Given the description of an element on the screen output the (x, y) to click on. 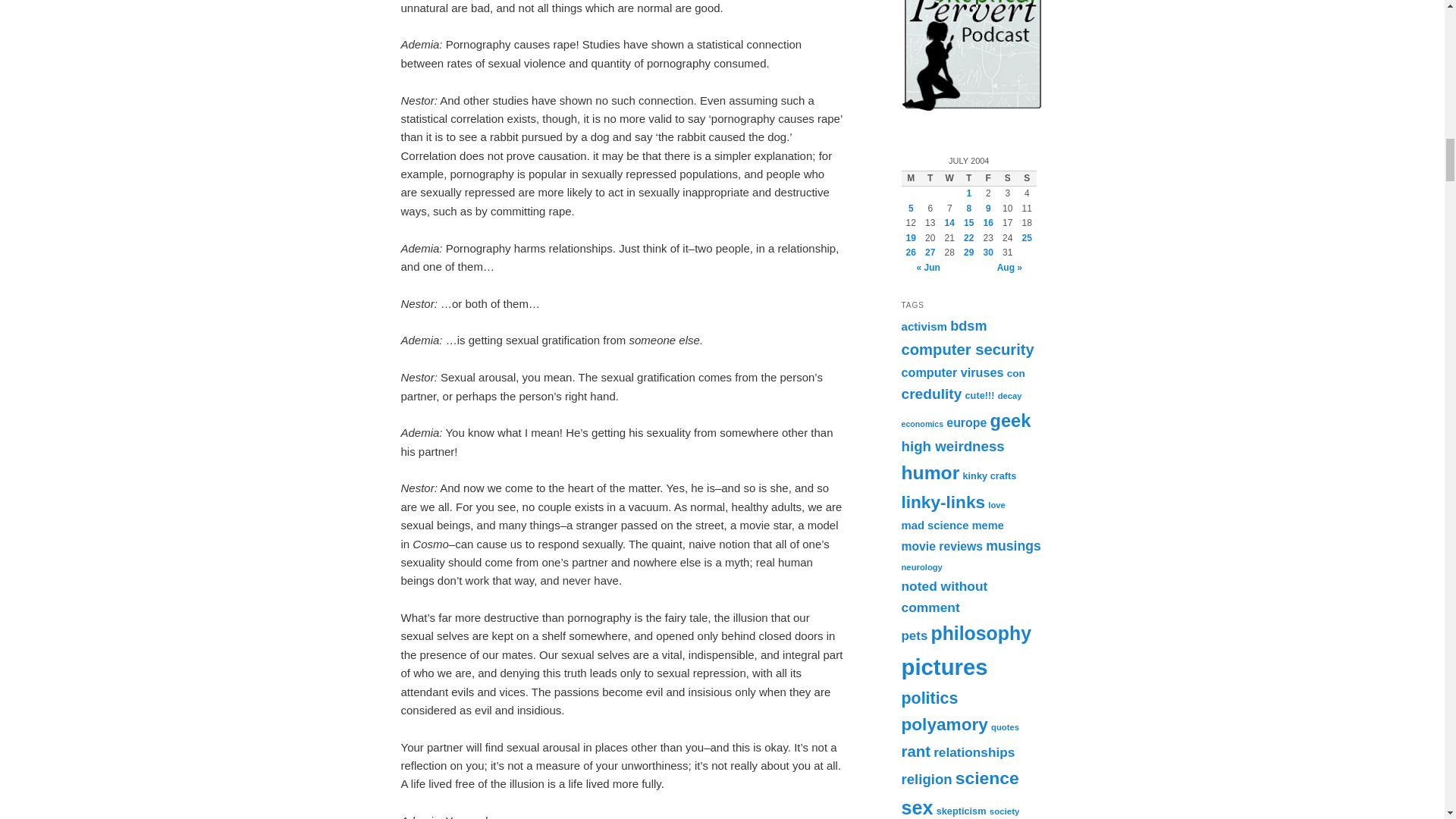
Monday (910, 178)
The Skeptical Pervert Podcast (972, 55)
Tuesday (930, 178)
Wednesday (949, 178)
